Given the description of an element on the screen output the (x, y) to click on. 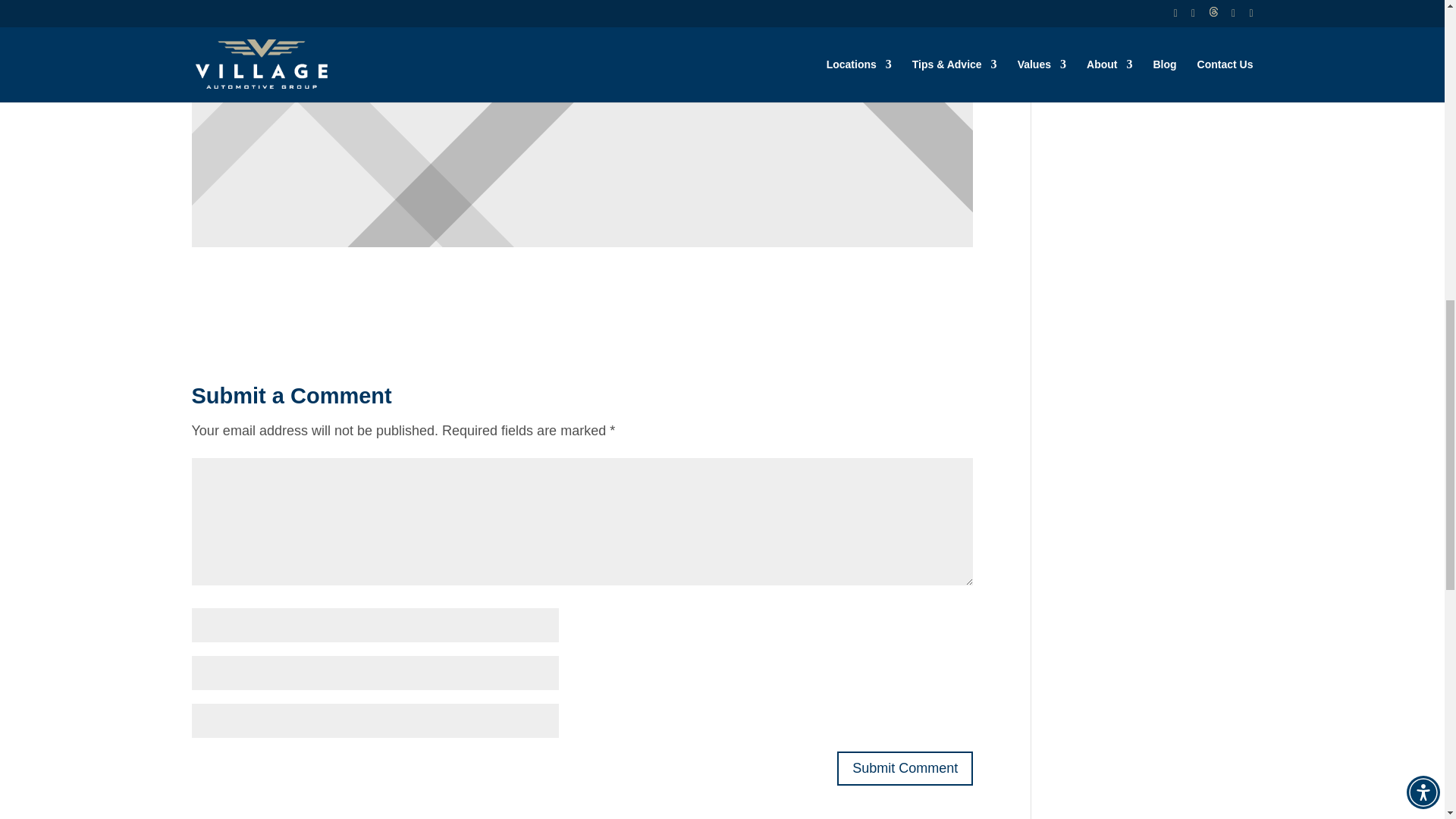
Submit Comment (904, 768)
